Given the description of an element on the screen output the (x, y) to click on. 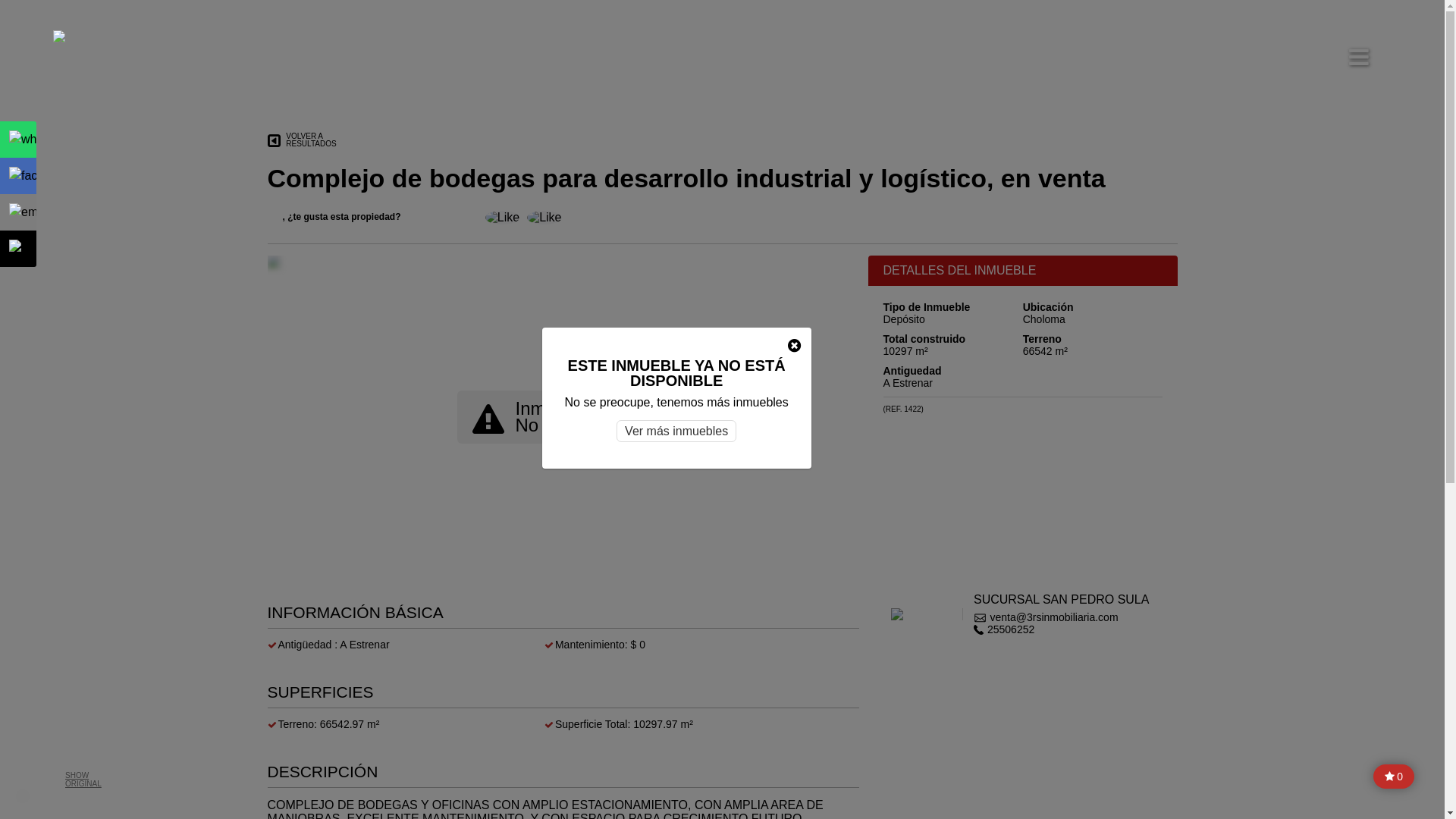
25506252 Element type: text (1060, 629)
0 Element type: text (1393, 776)
VOLVER A
RESULTADOS Element type: text (300, 140)
venta@3rsinmobiliaria.com Element type: text (1060, 617)
